Given the description of an element on the screen output the (x, y) to click on. 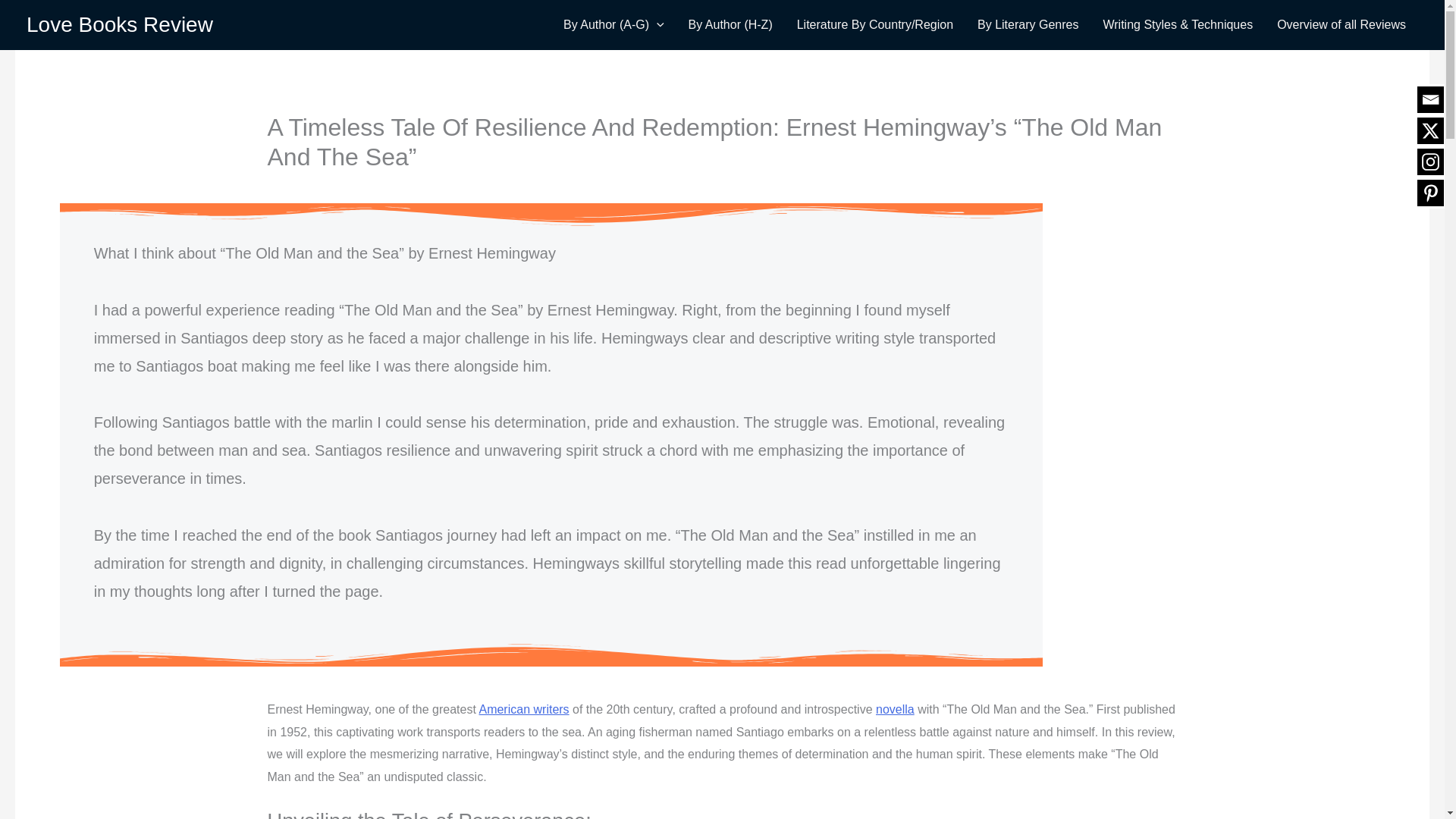
novella (895, 708)
American writers (524, 708)
Love Books Review (119, 24)
Overview of all Reviews (1341, 24)
By Literary Genres (1027, 24)
